Given the description of an element on the screen output the (x, y) to click on. 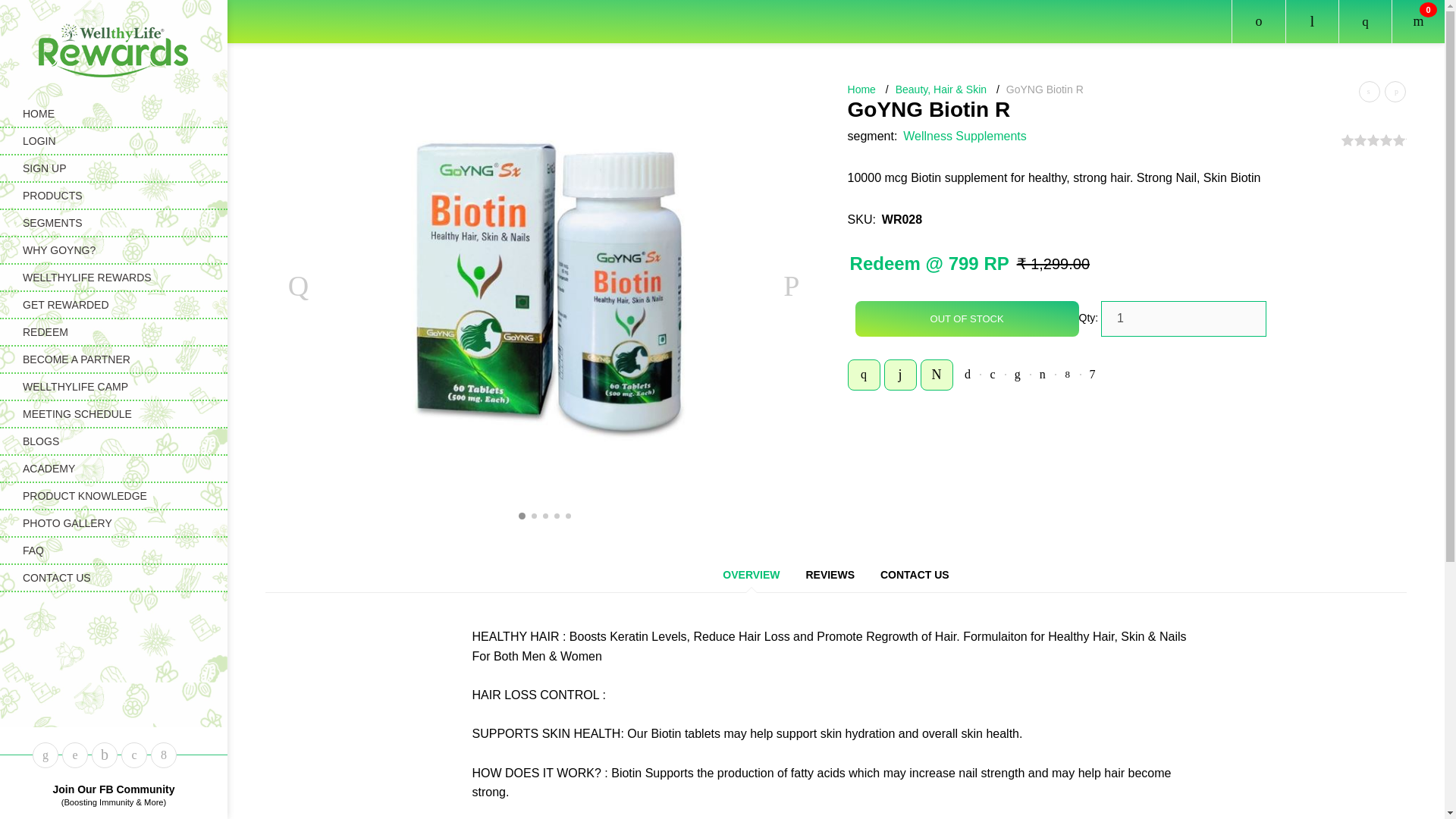
1 (1183, 318)
OUT OF STOCK (967, 318)
